Given the description of an element on the screen output the (x, y) to click on. 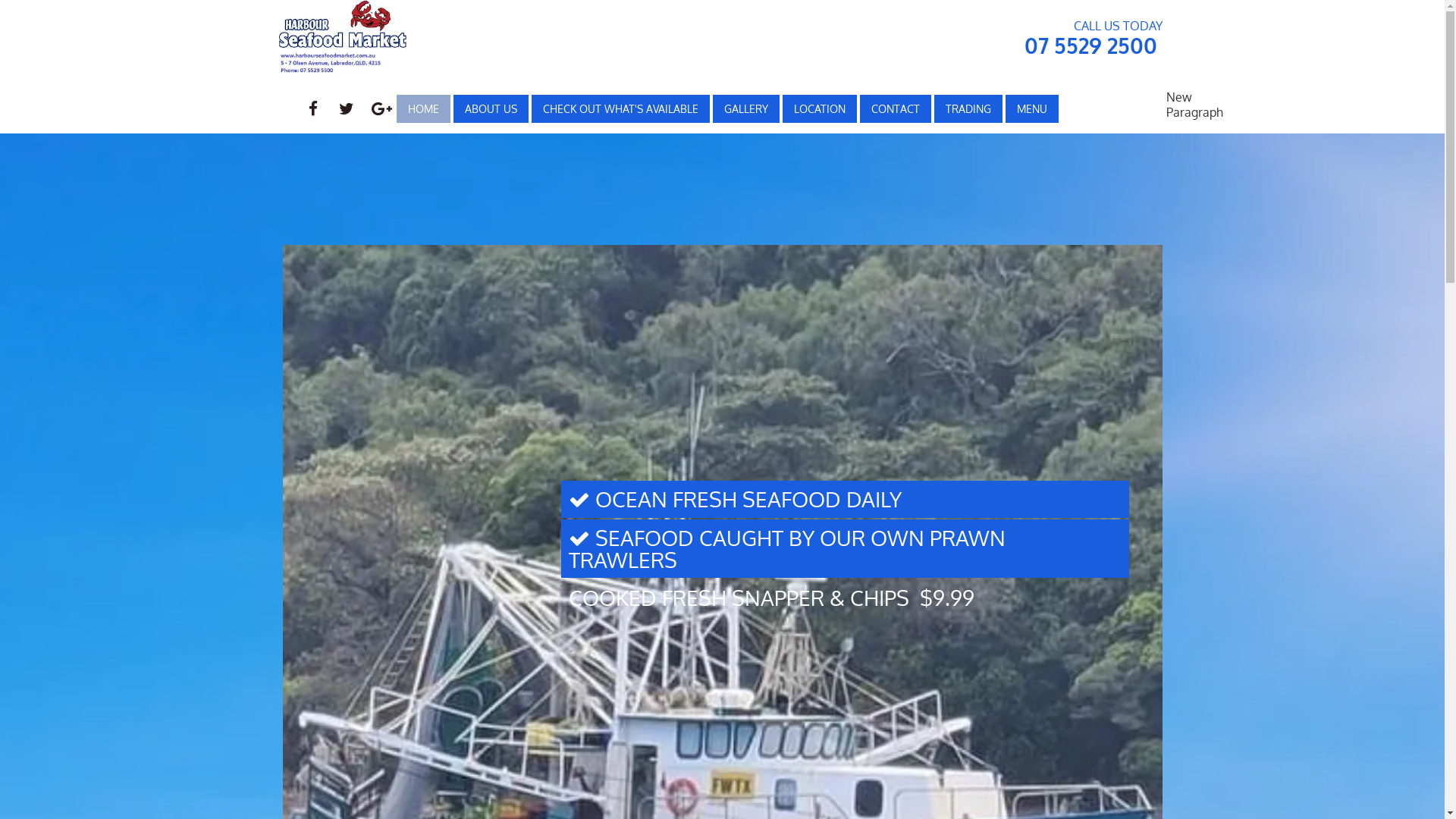
ABOUT US Element type: text (490, 107)
GALLERY Element type: text (745, 107)
HOME Element type: text (423, 107)
MENU Element type: text (1031, 107)
LOCATION Element type: text (818, 107)
07 5529 2500 Element type: text (1089, 45)
TRADING Element type: text (967, 107)
CHECK OUT WHAT'S AVAILABLE Element type: text (620, 107)
CONTACT Element type: text (894, 107)
